Given the description of an element on the screen output the (x, y) to click on. 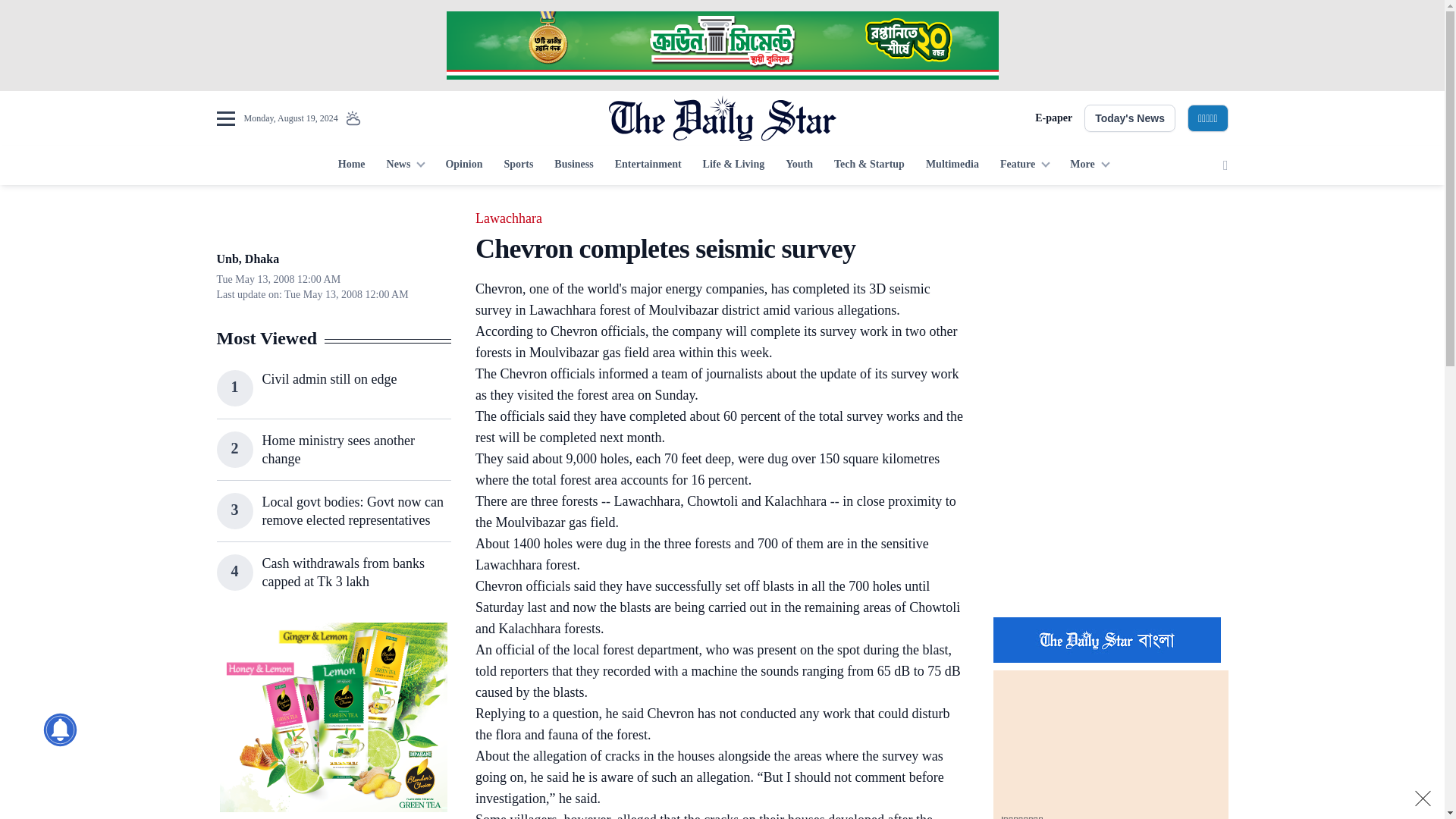
News (405, 165)
3rd party ad content (1110, 506)
Home (351, 165)
Sports (518, 165)
Youth (799, 165)
3rd party ad content (332, 717)
Opinion (463, 165)
Multimedia (952, 165)
E-paper (1053, 117)
